Given the description of an element on the screen output the (x, y) to click on. 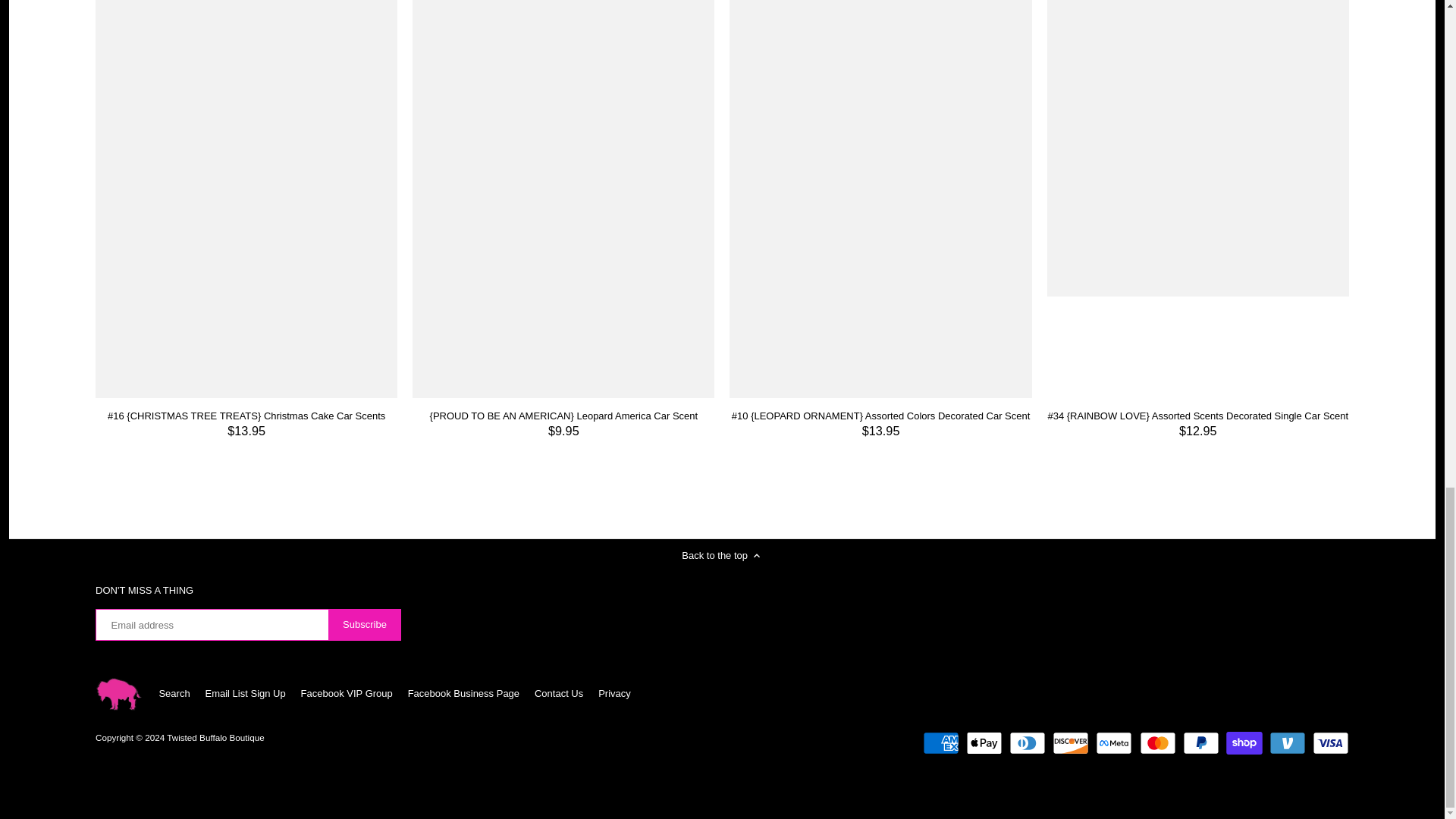
Diners Club (1027, 743)
American Express (941, 743)
Apple Pay (984, 743)
Discover (1070, 743)
Meta Pay (1114, 743)
Subscribe (365, 624)
